Given the description of an element on the screen output the (x, y) to click on. 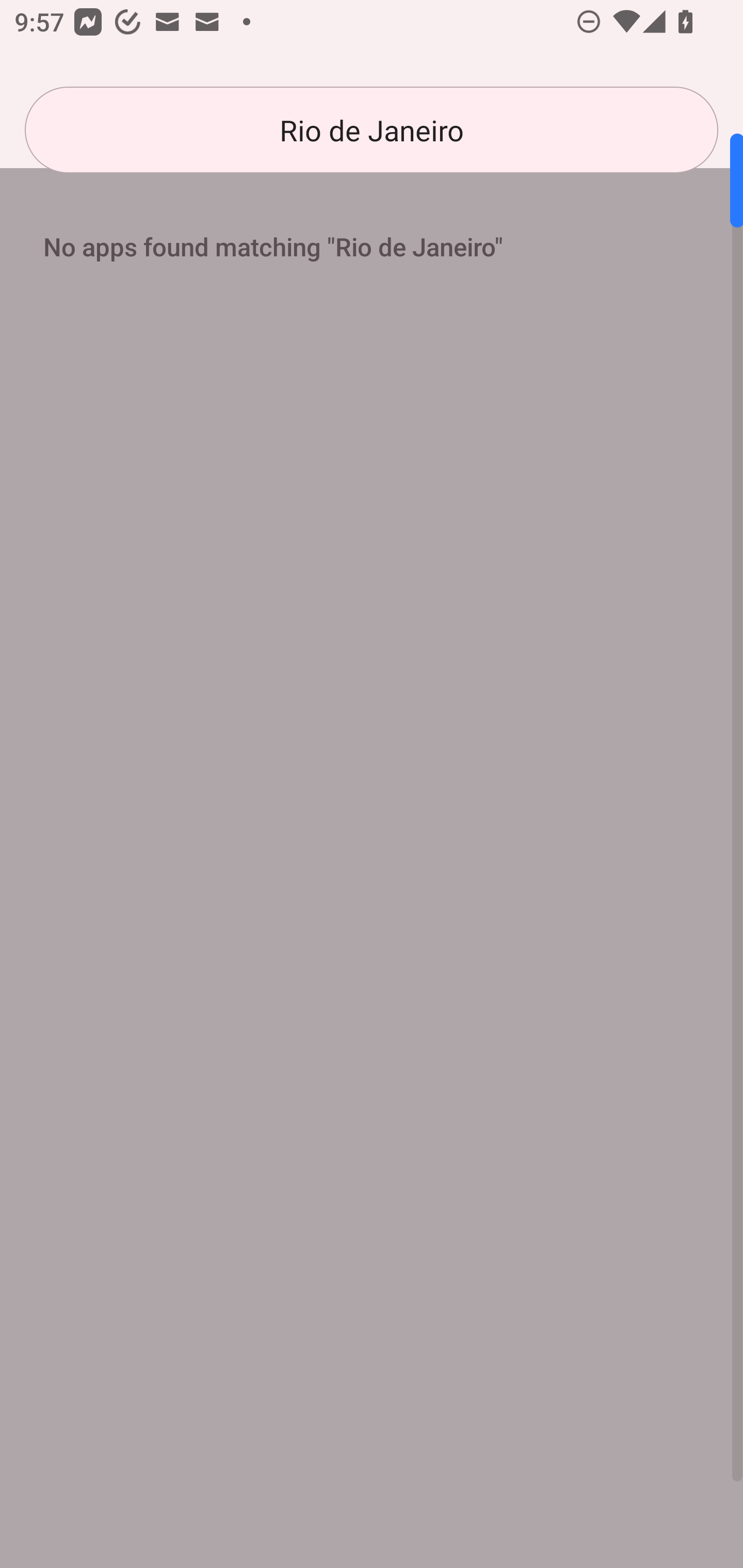
Rio de Janeiro (371, 130)
